Given the description of an element on the screen output the (x, y) to click on. 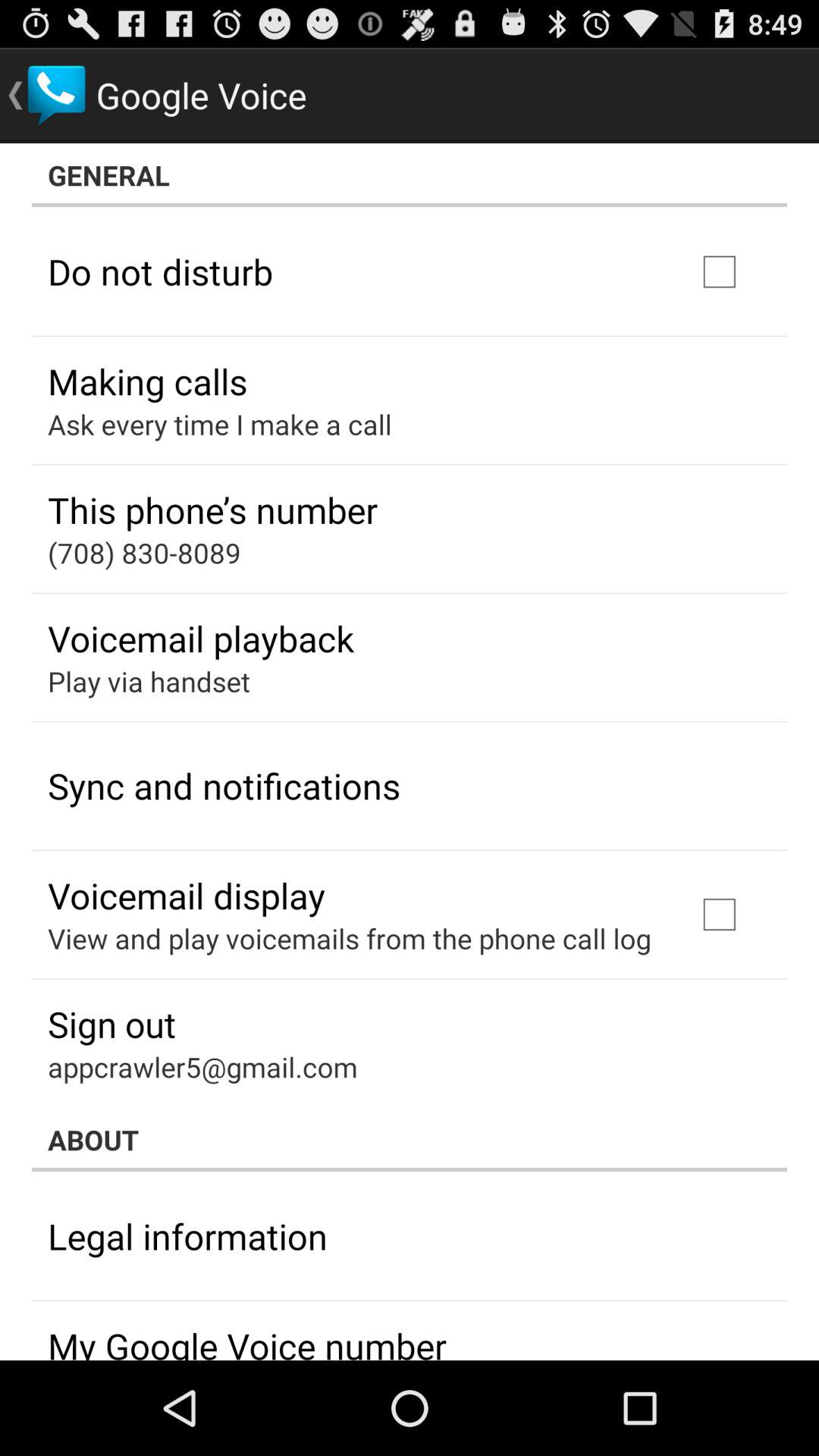
swipe to the do not disturb item (160, 271)
